Given the description of an element on the screen output the (x, y) to click on. 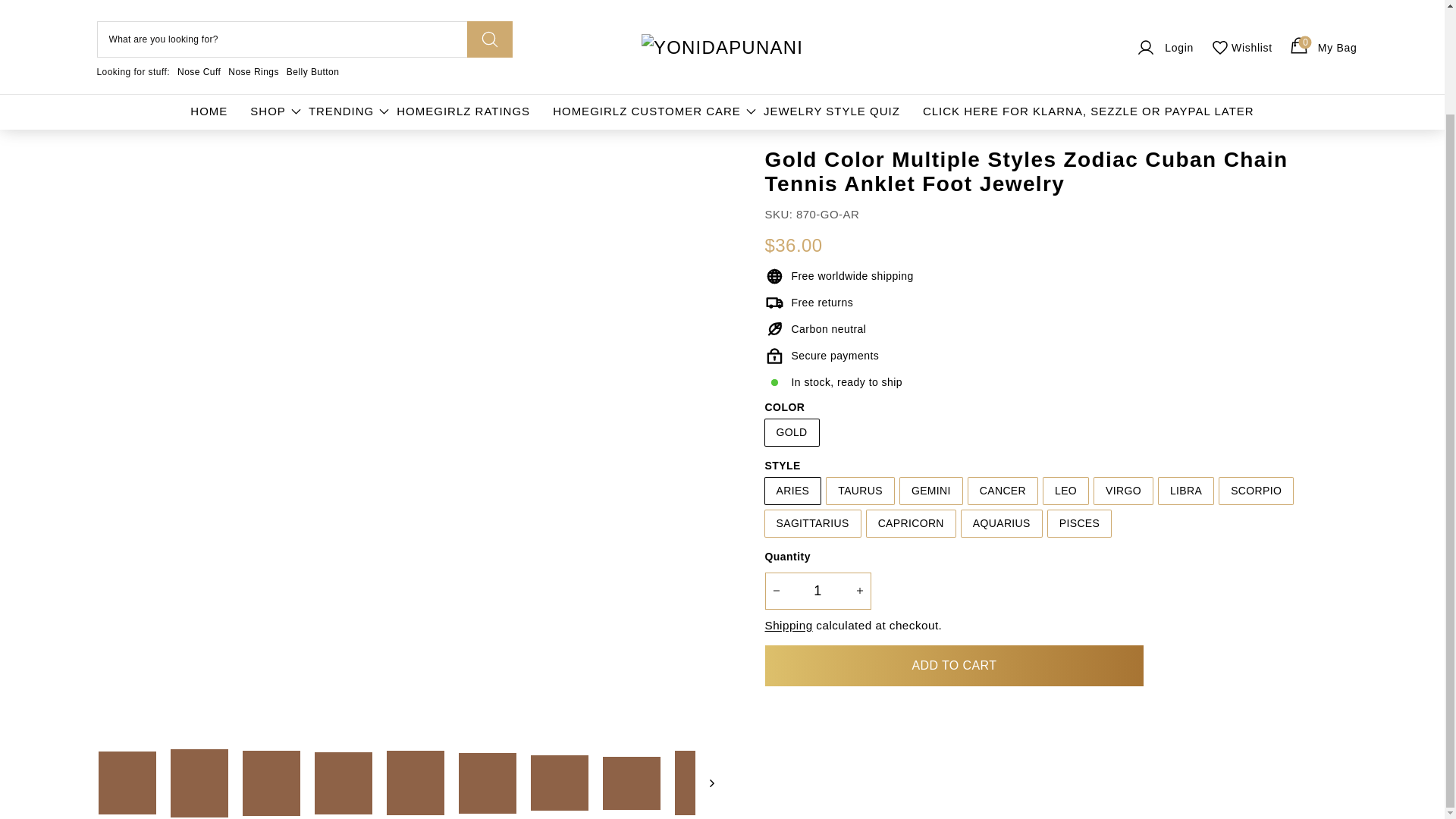
Belly Button (312, 40)
Login (1163, 16)
SHOP (267, 80)
1 (817, 590)
Nose Rings (253, 40)
Nose Cuff (1321, 15)
Wishlist (199, 40)
SCORPIO (1240, 16)
